Given the description of an element on the screen output the (x, y) to click on. 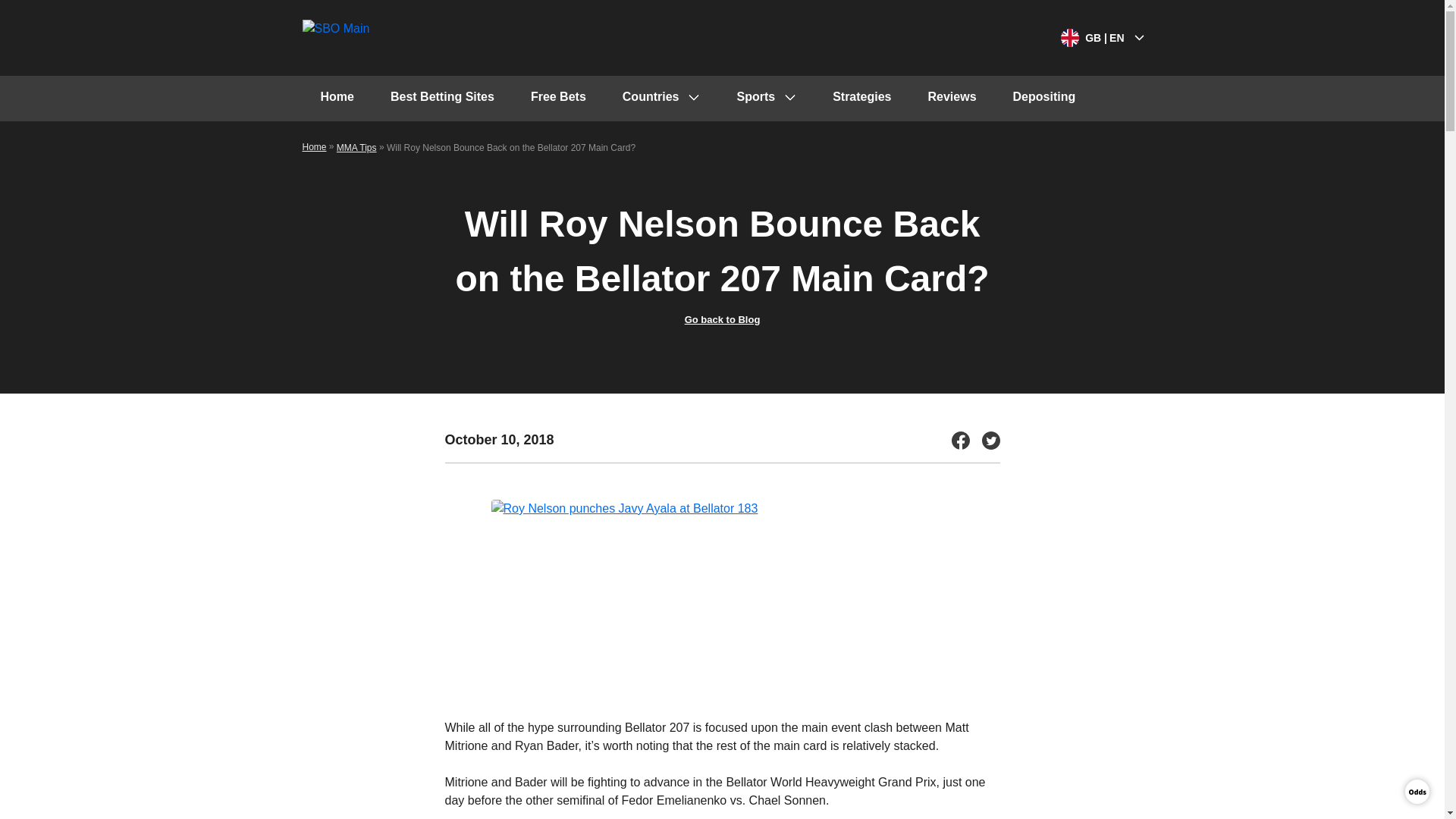
Reviews (952, 98)
Free Bets (558, 98)
Home (336, 98)
Strategies (860, 98)
Home (313, 146)
Countries (661, 98)
MMA Tips (356, 147)
Go back to Blog (722, 319)
Sports (765, 98)
Depositing (1044, 98)
